Given the description of an element on the screen output the (x, y) to click on. 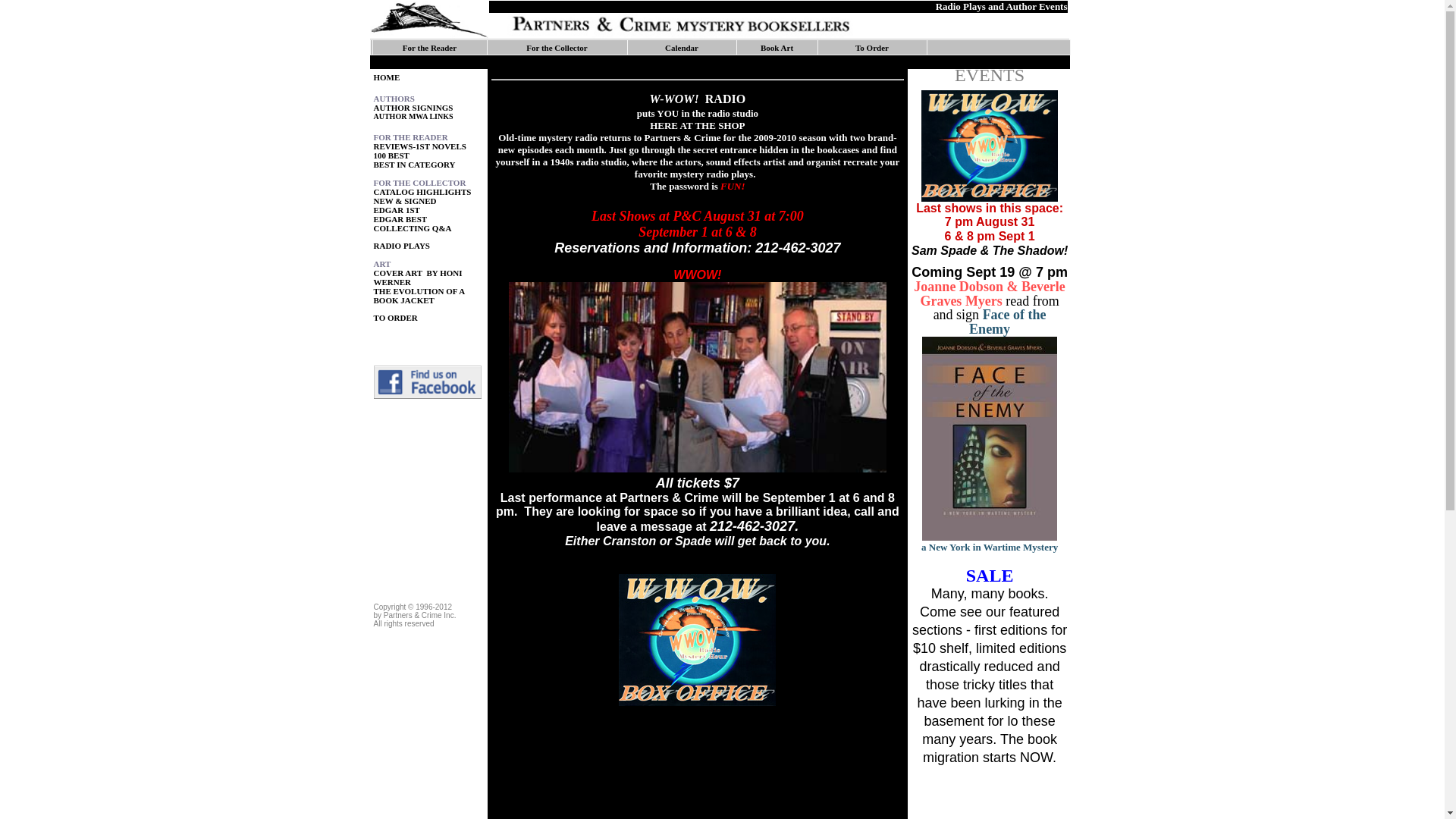
AUTHOR MWA LINKS (412, 115)
Calendar (681, 46)
EDGAR 1ST (395, 209)
To Order (872, 46)
AUTHOR SIGNINGS (412, 107)
For the Collector (555, 46)
HOME (385, 76)
COVER ART  BY HONI WERNER (416, 277)
W-WOW!  (676, 98)
TO ORDER (394, 317)
